Given the description of an element on the screen output the (x, y) to click on. 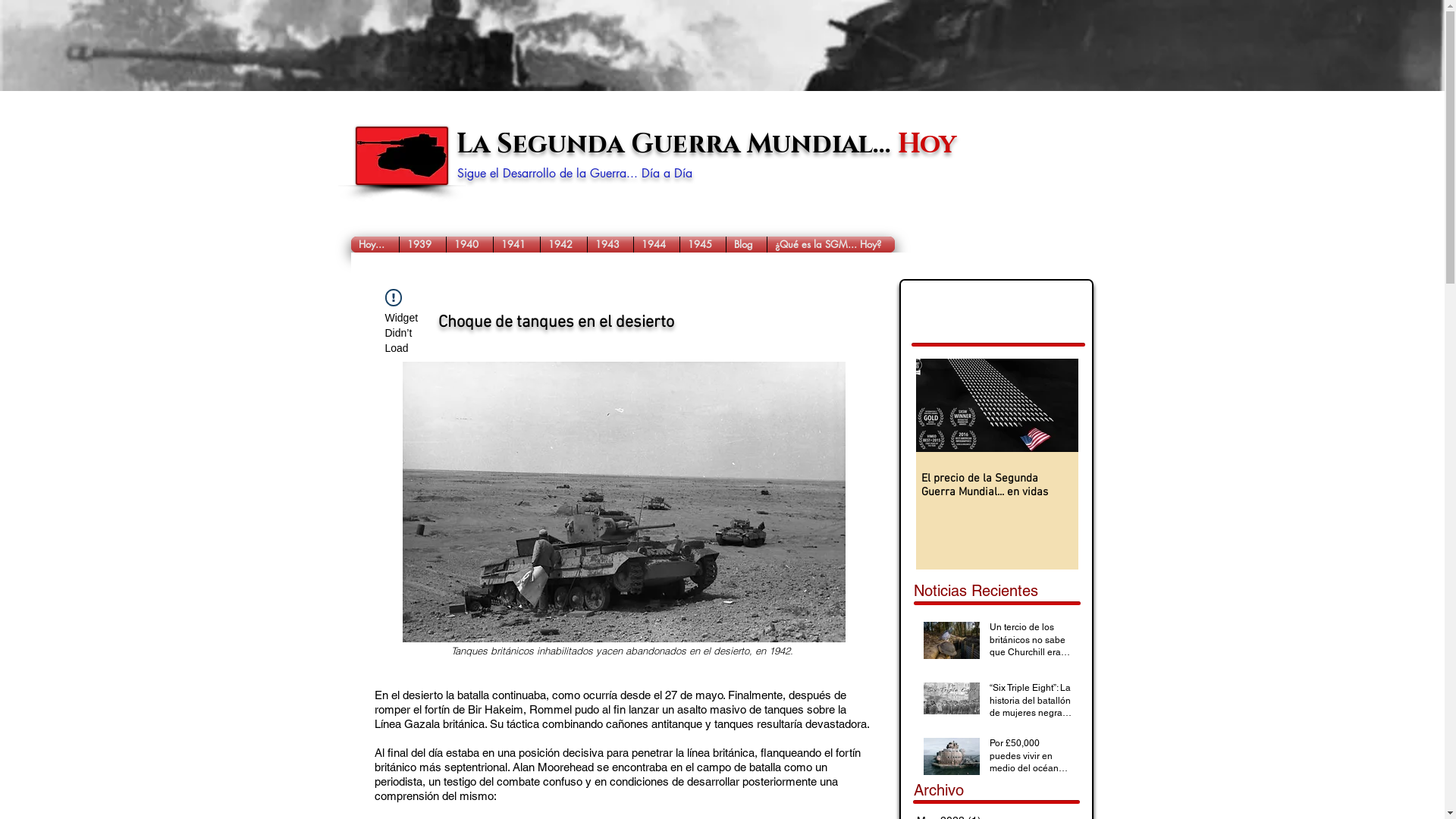
La Segunda Guerra Mundial... Hoy Element type: text (706, 145)
Site Search Element type: hover (997, 245)
Hoy... Element type: text (374, 244)
El precio de la Segunda Guerra Mundial... en vidas Element type: text (996, 484)
Twitter Tweet Element type: hover (1053, 296)
Blog Element type: text (746, 244)
Facebook Like Element type: hover (957, 296)
